Given the description of an element on the screen output the (x, y) to click on. 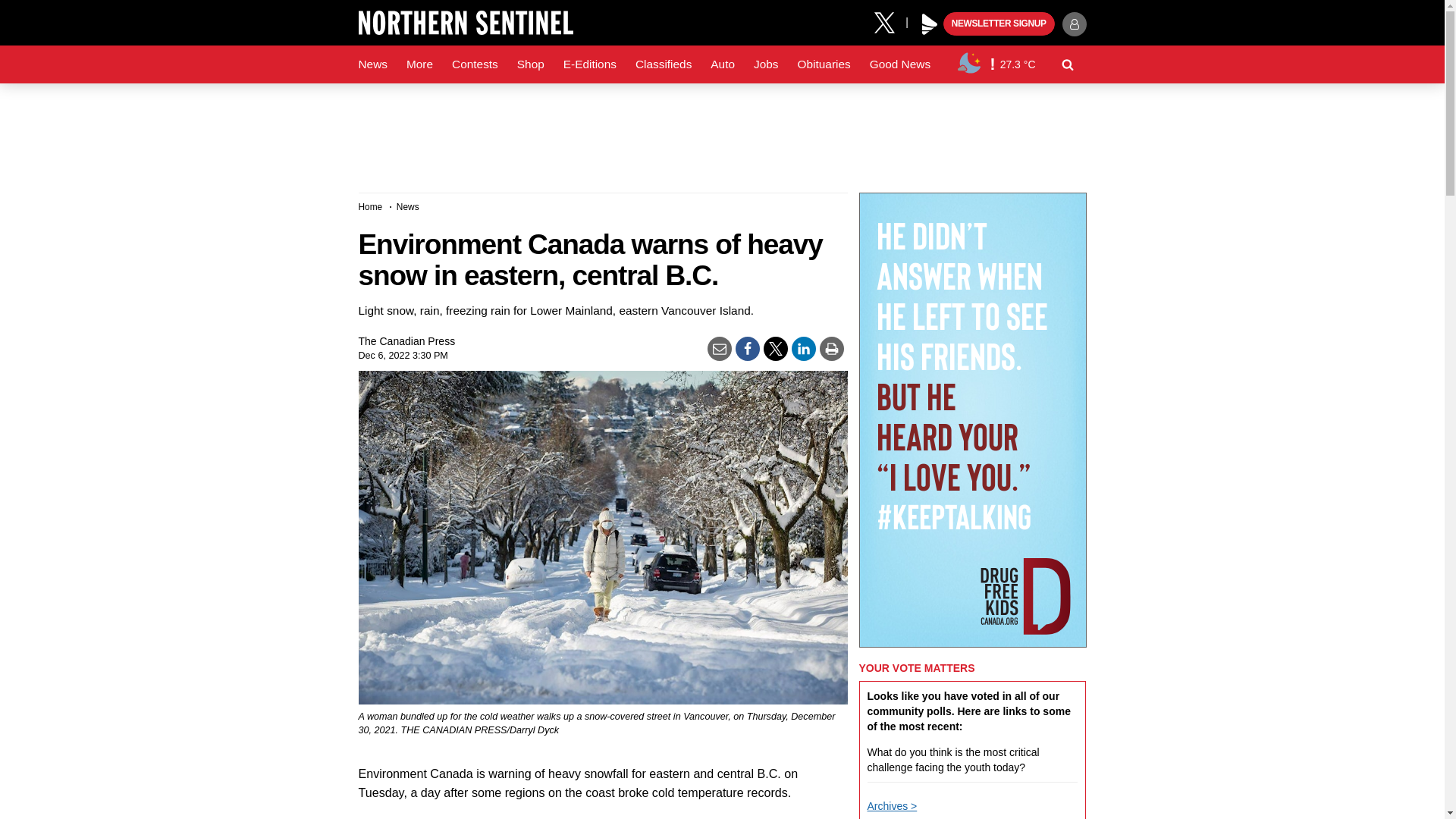
3rd party ad content (721, 131)
NEWSLETTER SIGNUP (998, 24)
Black Press Media (929, 24)
X (889, 21)
News (372, 64)
Play (929, 24)
